Given the description of an element on the screen output the (x, y) to click on. 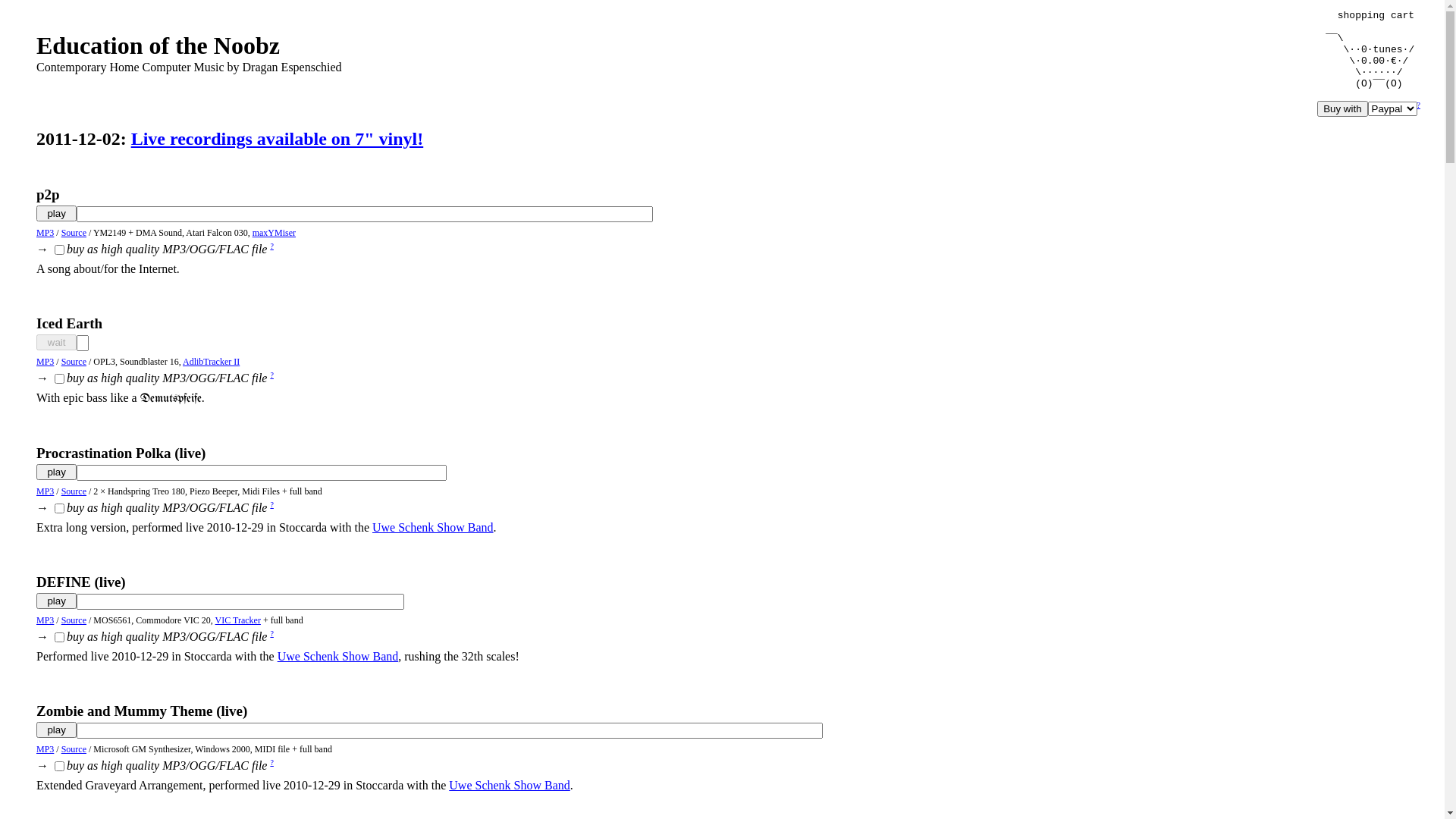
? Element type: text (271, 633)
Uwe Schenk Show Band Element type: text (509, 784)
? Element type: text (271, 504)
Source Element type: text (73, 361)
MP3 Element type: text (44, 748)
Live recordings available on 7" vinyl! Element type: text (277, 138)
Source Element type: text (73, 232)
Uwe Schenk Show Band Element type: text (432, 526)
play Element type: text (56, 213)
Source Element type: text (73, 620)
? Element type: text (1418, 104)
Source Element type: text (73, 491)
maxYMiser Element type: text (273, 232)
Buy with Element type: text (1342, 108)
wait Element type: text (56, 342)
play Element type: text (56, 729)
? Element type: text (271, 374)
? Element type: text (271, 245)
? Element type: text (271, 762)
MP3 Element type: text (44, 232)
MP3 Element type: text (44, 361)
AdlibTracker II Element type: text (210, 361)
Uwe Schenk Show Band Element type: text (337, 655)
play Element type: text (56, 600)
MP3 Element type: text (44, 620)
play Element type: text (56, 472)
MP3 Element type: text (44, 491)
Source Element type: text (73, 748)
VIC Tracker Element type: text (237, 620)
